Given the description of an element on the screen output the (x, y) to click on. 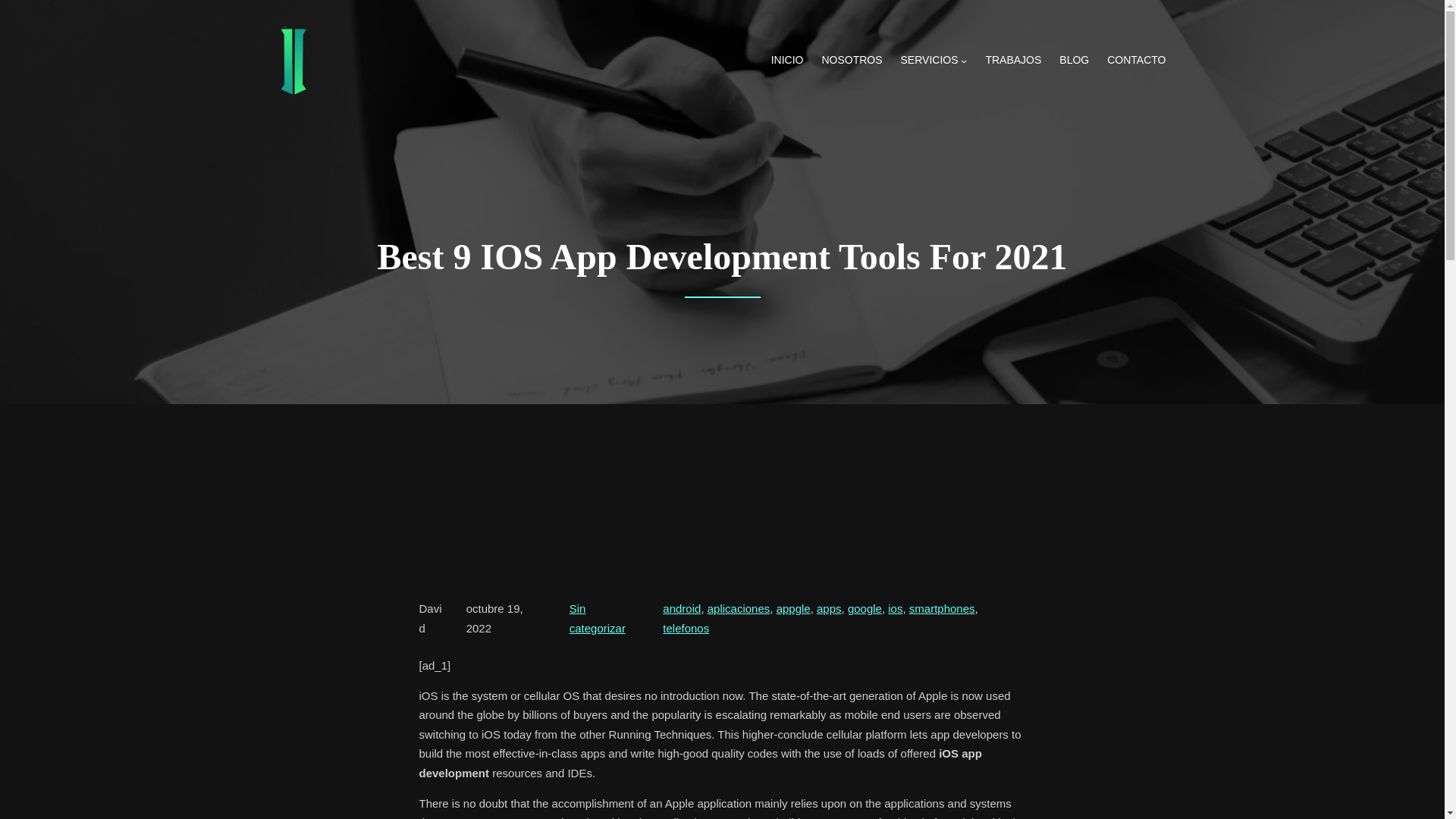
BLOG (1074, 60)
google (864, 608)
Sin categorizar (597, 617)
ios (895, 608)
CONTACTO (1136, 60)
smartphones (941, 608)
appgle (793, 608)
NOSOTROS (851, 60)
TRABAJOS (1013, 60)
apps (828, 608)
INICIO (787, 60)
telefonos (685, 627)
aplicaciones (738, 608)
SERVICIOS (929, 60)
android (681, 608)
